Given the description of an element on the screen output the (x, y) to click on. 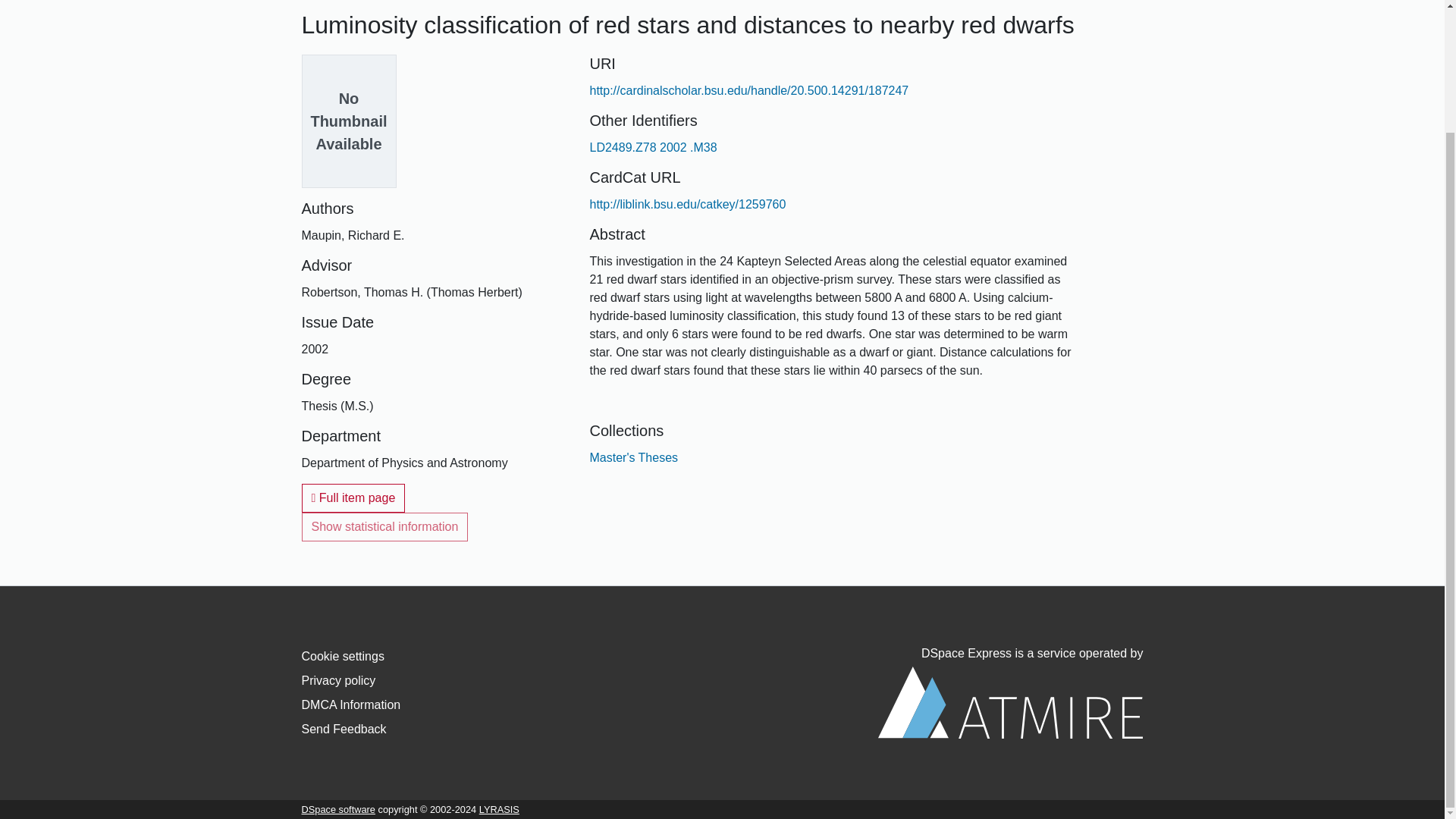
Show statistical information (384, 526)
LYRASIS (499, 808)
DSpace Express is a service operated by (1009, 692)
Full item page (353, 498)
DSpace software (338, 808)
Cookie settings (342, 656)
LD2489.Z78 2002 .M38 (652, 146)
Master's Theses (633, 457)
Privacy policy (338, 680)
Send Feedback (344, 728)
DMCA Information (351, 704)
